Given the description of an element on the screen output the (x, y) to click on. 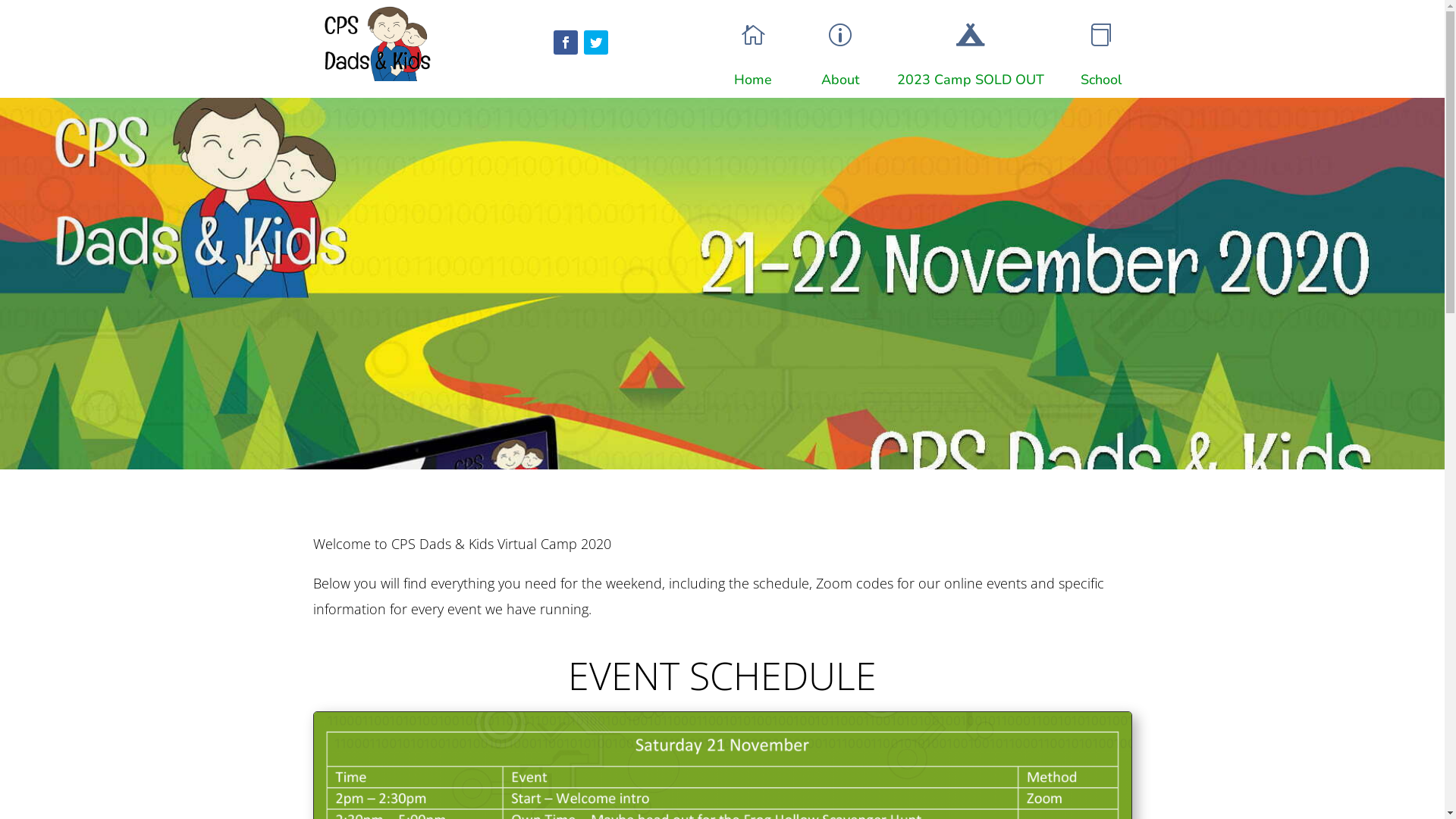
About Element type: text (840, 79)
2023 Camp SOLD OUT Element type: text (970, 79)
Follow on Facebook Element type: hover (565, 42)
Final Logo Colour w Black Outline no background Element type: hover (374, 43)
School Element type: text (1100, 79)
p Element type: text (839, 34)
Home Element type: text (752, 79)
Follow on Twitter Element type: hover (595, 42)
